Given the description of an element on the screen output the (x, y) to click on. 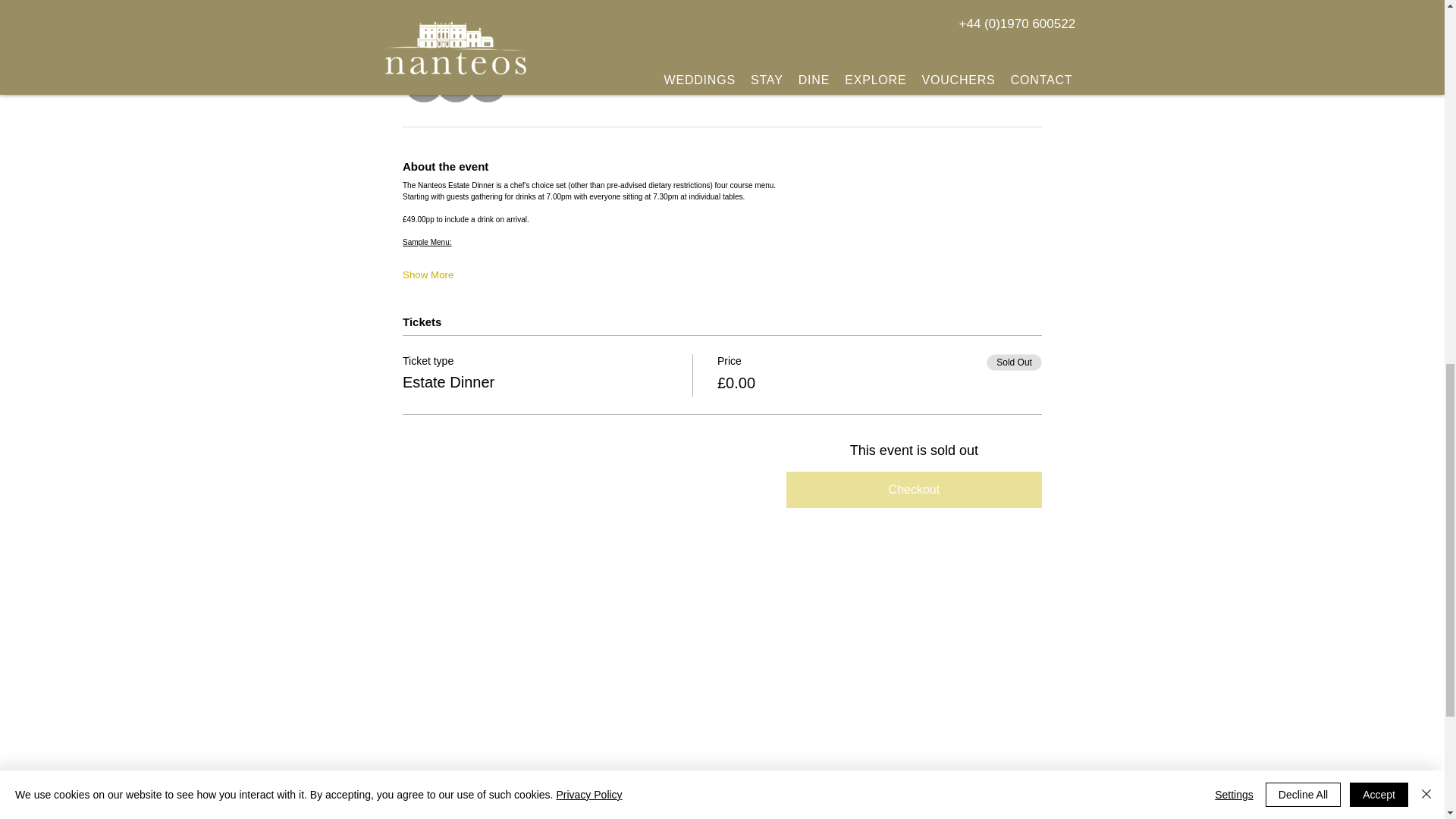
Show More (427, 274)
Checkout (914, 489)
